Given the description of an element on the screen output the (x, y) to click on. 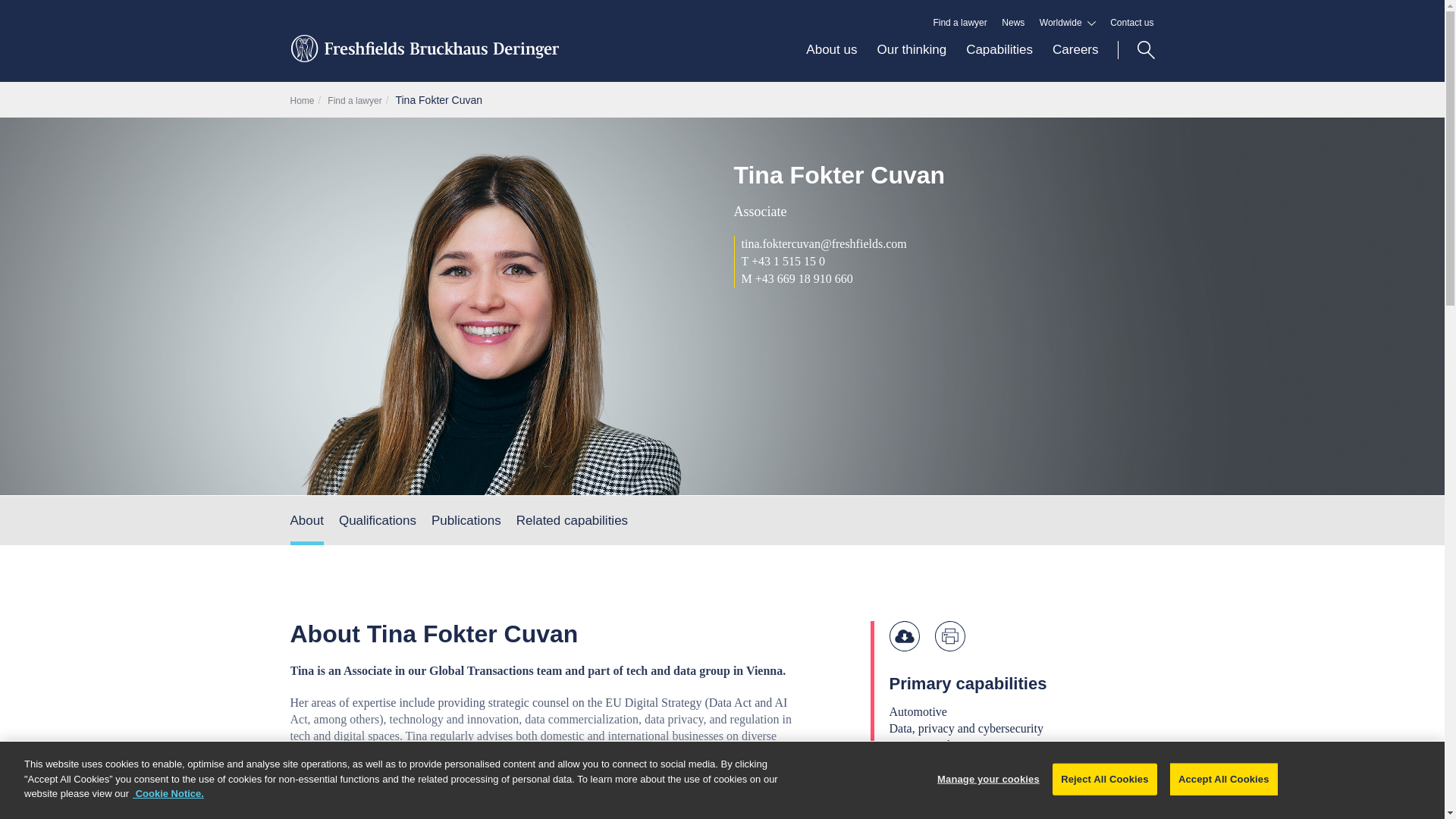
Capabilities (999, 61)
Home (301, 100)
Find a lawyer (354, 100)
Find a lawyer (960, 22)
About us (831, 61)
Mobile Number (748, 278)
News (1013, 22)
Worldwide (1067, 22)
Freshfields Bruckhaus Deringer (423, 56)
Fokter Cuvan Tina (437, 100)
Search (1136, 49)
Careers (1069, 61)
Contact us (1131, 22)
Our thinking (911, 61)
